Given the description of an element on the screen output the (x, y) to click on. 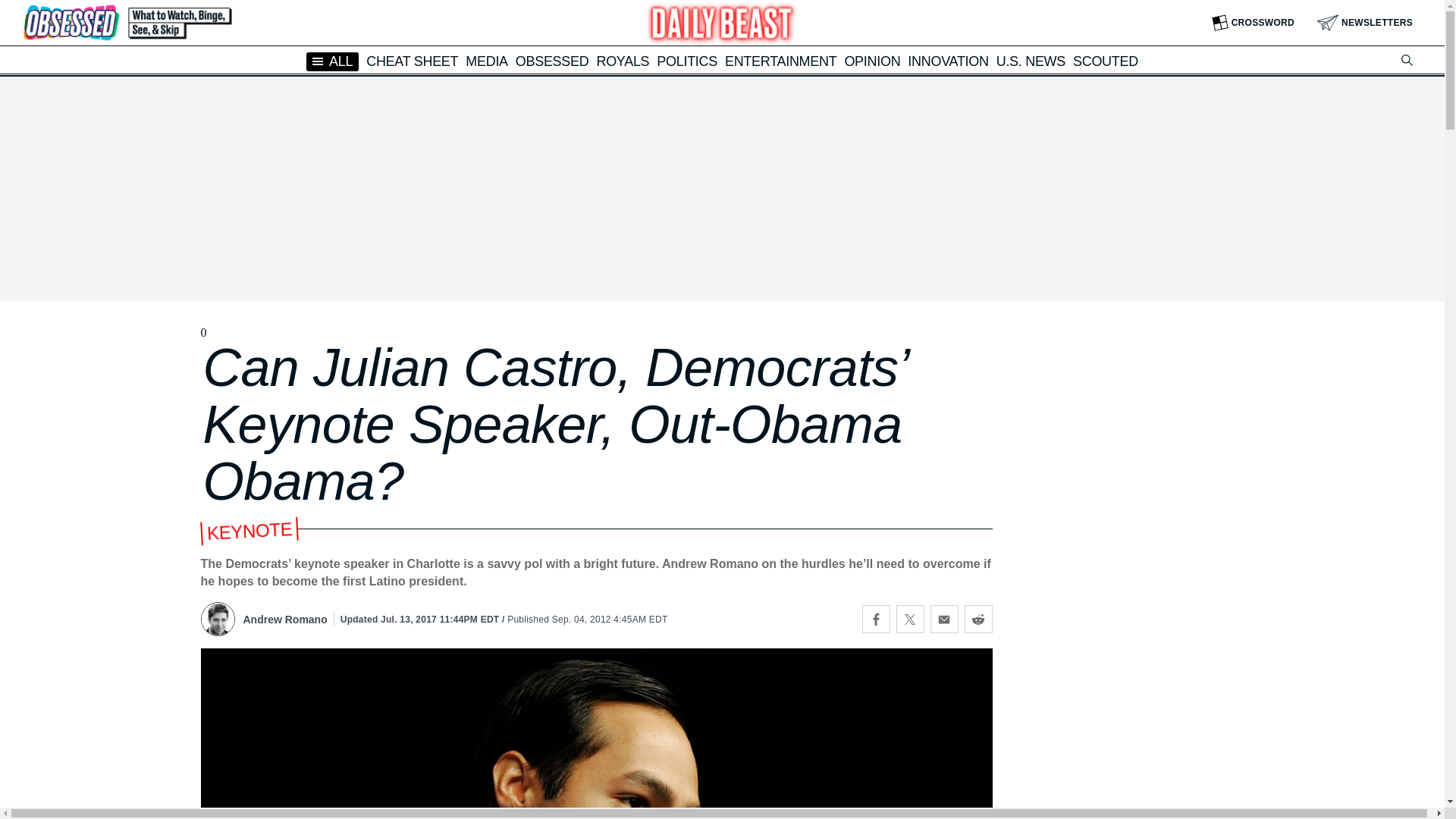
ENTERTAINMENT (780, 60)
CHEAT SHEET (412, 60)
OBSESSED (552, 60)
NEWSLETTERS (1364, 22)
MEDIA (486, 60)
INNOVATION (947, 60)
ALL (331, 60)
U.S. NEWS (1030, 60)
SCOUTED (1105, 60)
CROSSWORD (1252, 22)
